Given the description of an element on the screen output the (x, y) to click on. 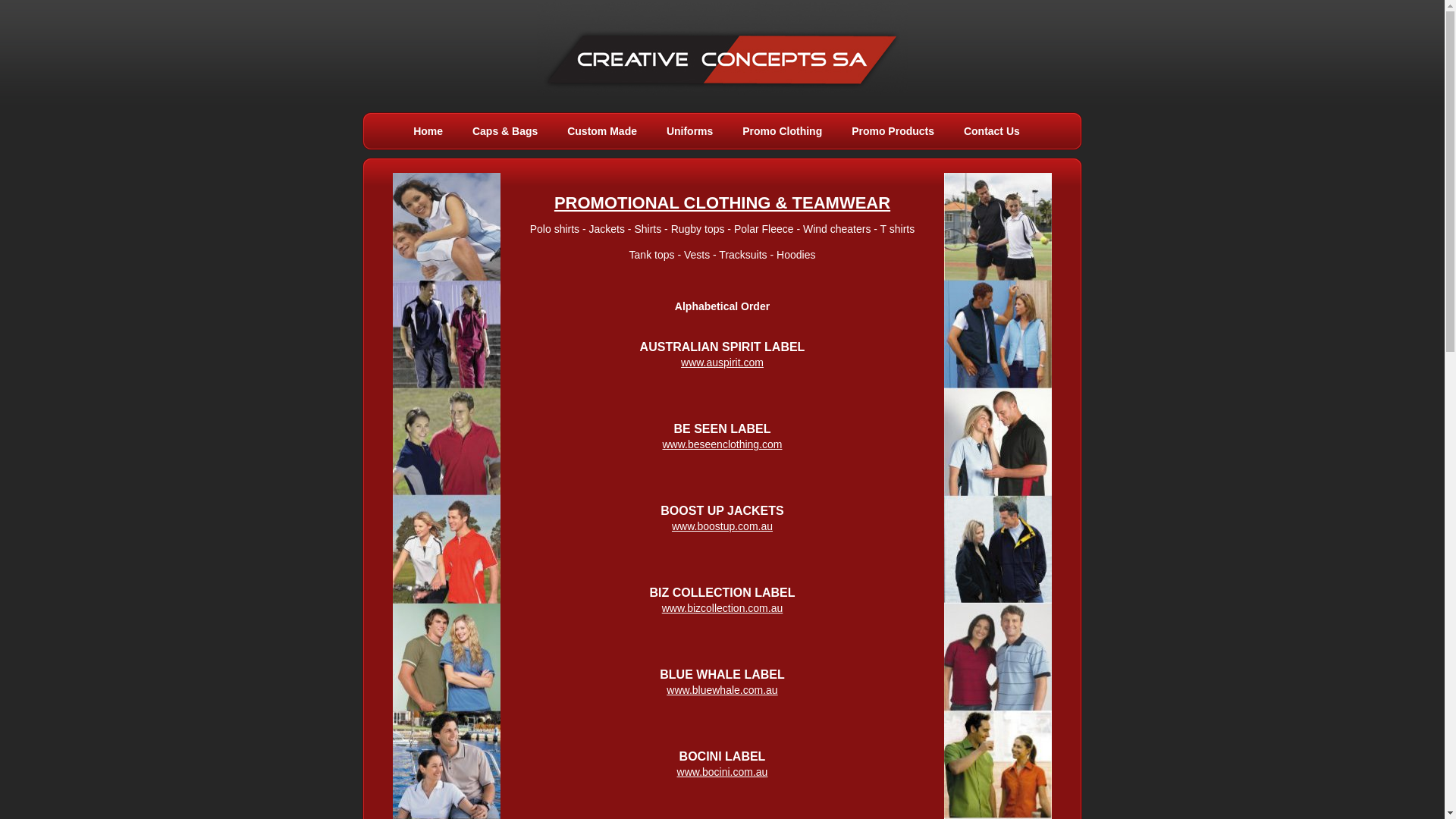
www.bizcollection.com.au Element type: text (722, 608)
www.beseenclothing.com Element type: text (722, 444)
Promo Clothing Element type: text (781, 130)
www.boostup.com.au Element type: text (721, 526)
Home Element type: text (427, 130)
www.auspirit.com Element type: text (721, 362)
Custom Made Element type: text (601, 130)
Promo Products Element type: text (892, 130)
www.bocini.com.au Element type: text (722, 771)
Caps & Bags Element type: text (504, 130)
Uniforms Element type: text (689, 130)
Contact Us Element type: text (991, 130)
www.bluewhale.com.au Element type: text (721, 690)
